Given the description of an element on the screen output the (x, y) to click on. 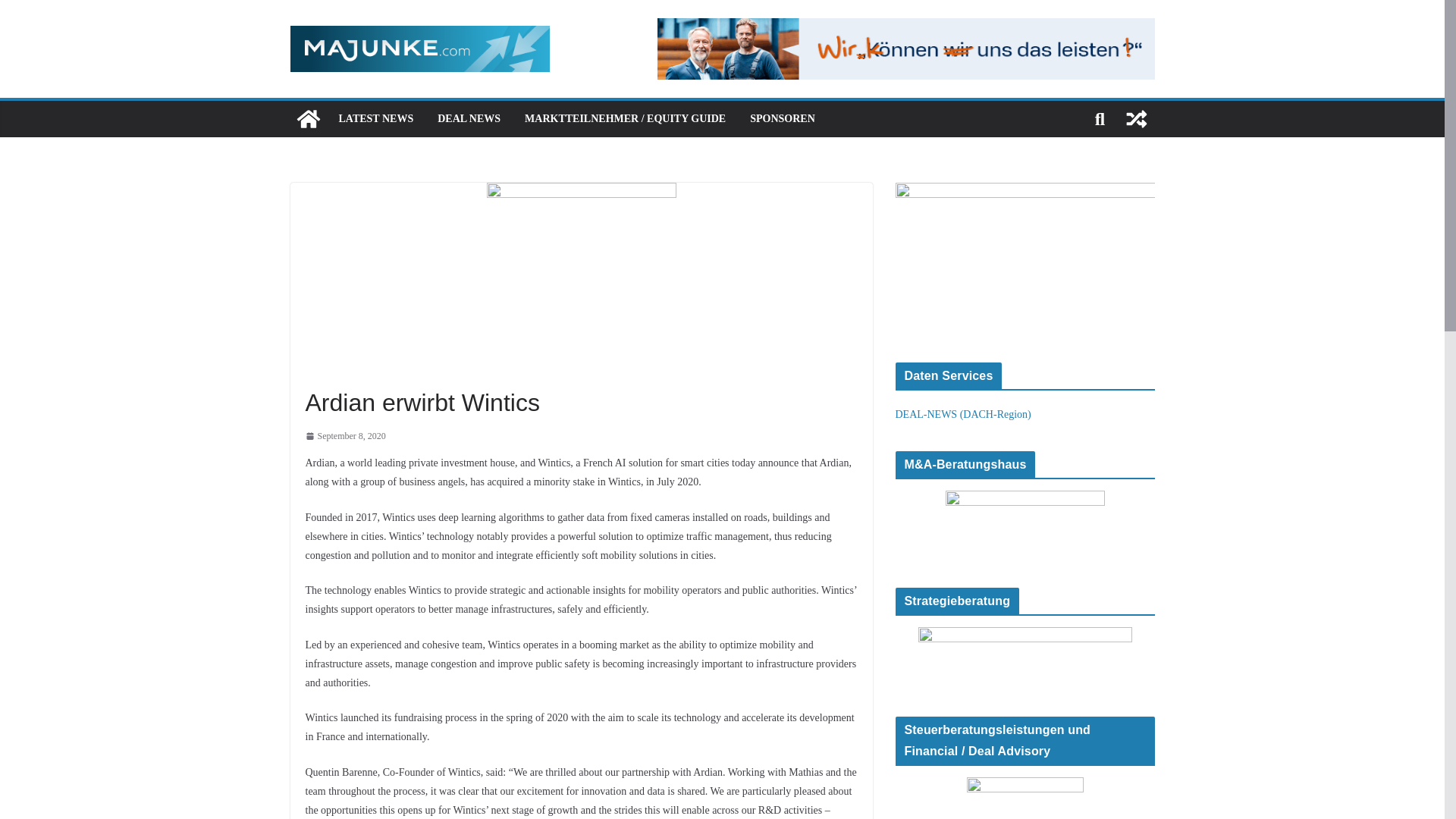
2:47 pm (344, 436)
September 8, 2020 (344, 436)
DEAL NEWS (469, 118)
SPONSOREN (782, 118)
MAJUNKE Consulting (307, 118)
LATEST NEWS (375, 118)
